Given the description of an element on the screen output the (x, y) to click on. 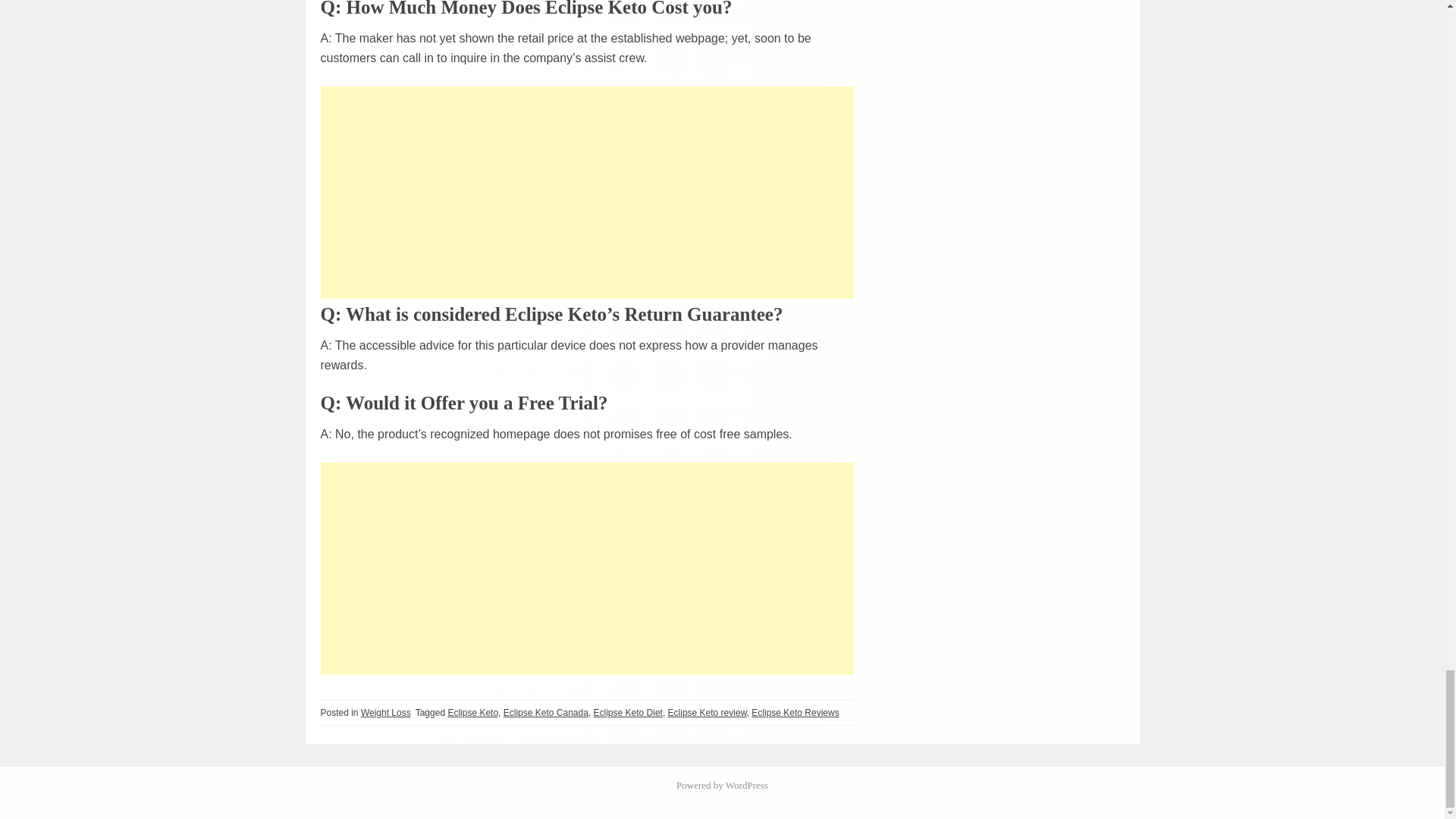
Eclipse Keto Reviews (794, 712)
Eclipse Keto Diet (628, 712)
Eclipse Keto Canada (545, 712)
Eclipse Keto review (707, 712)
Eclipse Keto (471, 712)
Weight Loss (385, 712)
